Given the description of an element on the screen output the (x, y) to click on. 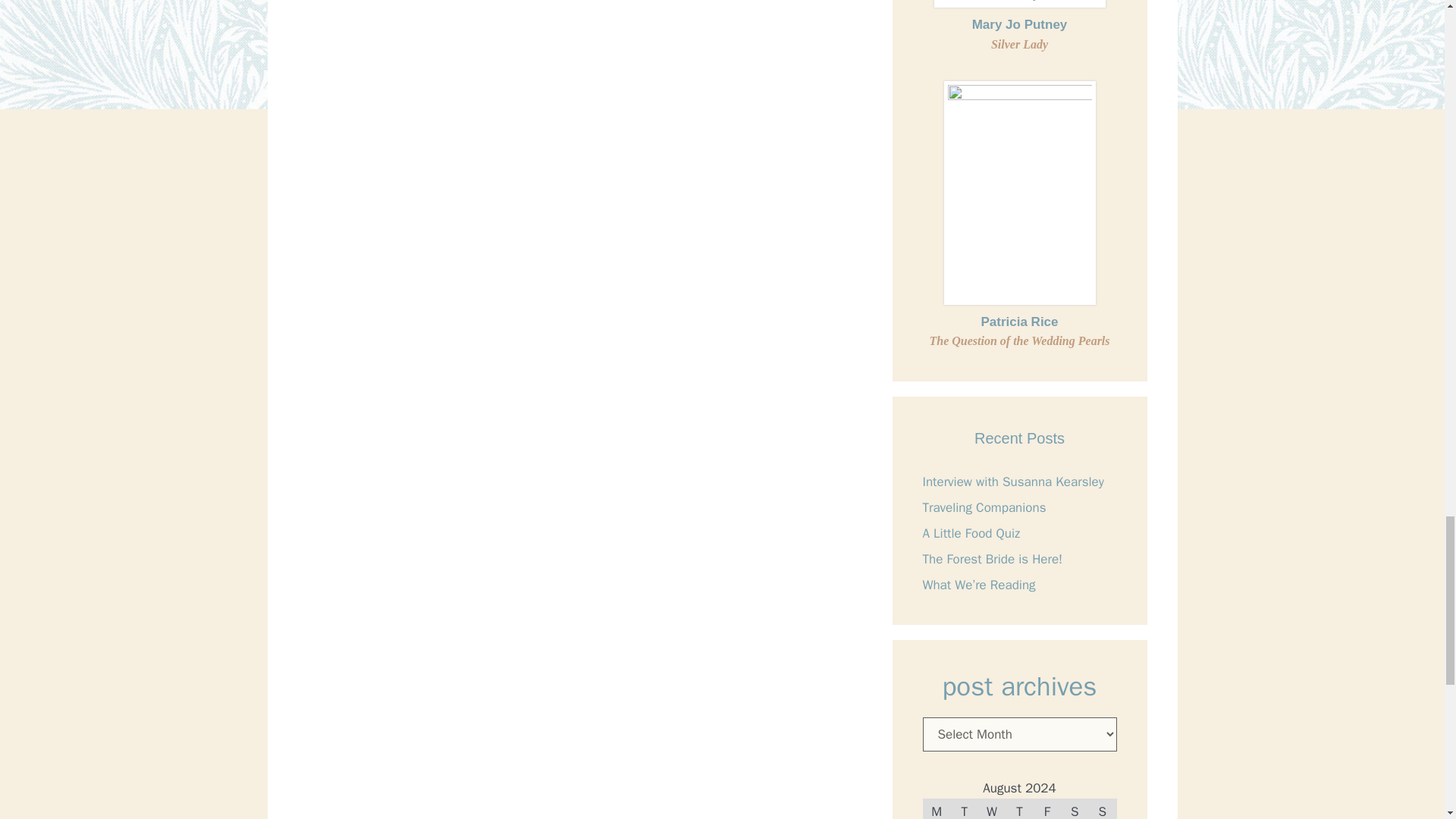
Monday (936, 808)
Friday (1047, 808)
Sunday (1102, 808)
Tuesday (963, 808)
Thursday (1019, 808)
Saturday (1074, 808)
Wednesday (992, 808)
